Given the description of an element on the screen output the (x, y) to click on. 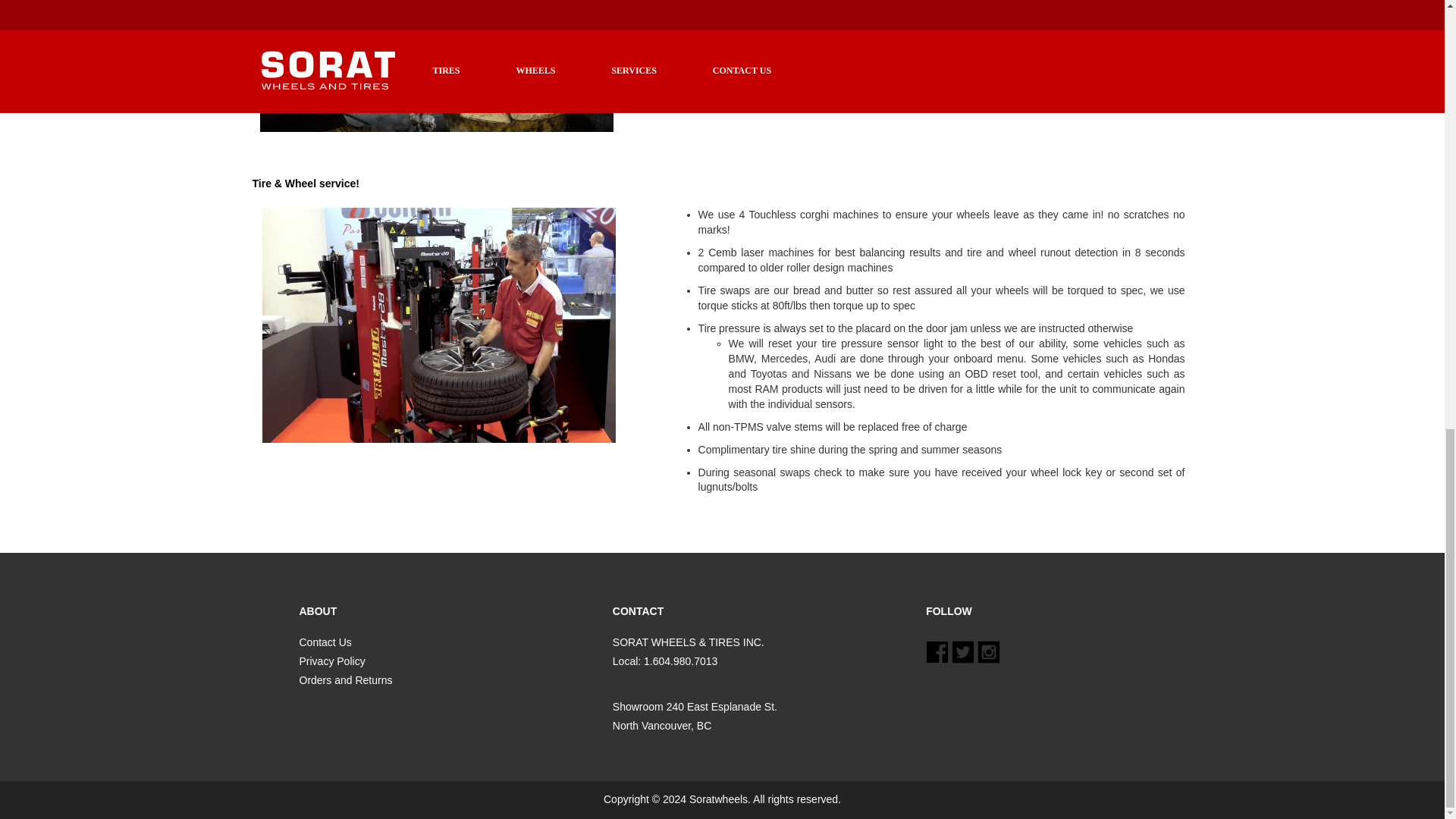
Orders and Returns (344, 680)
Privacy Policy (331, 661)
Contact Us (324, 642)
CONTACT (750, 611)
